Given the description of an element on the screen output the (x, y) to click on. 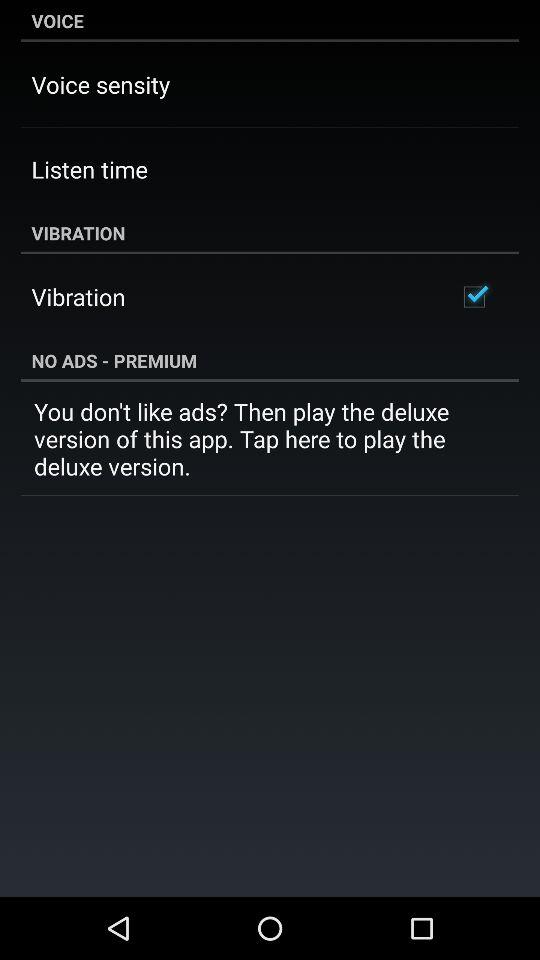
turn off item at the top right corner (474, 296)
